Given the description of an element on the screen output the (x, y) to click on. 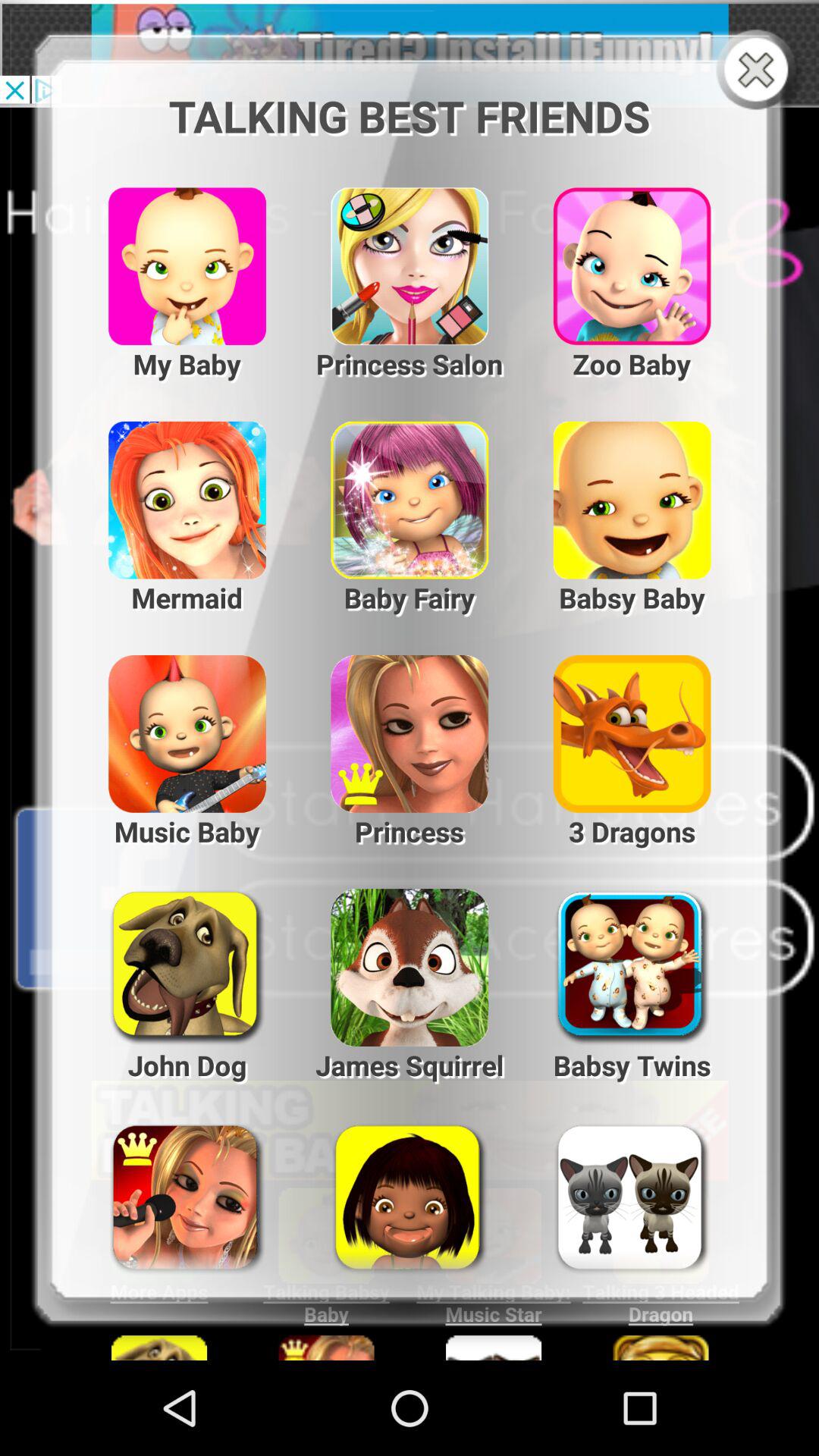
click on baby fairy image (409, 486)
